Given the description of an element on the screen output the (x, y) to click on. 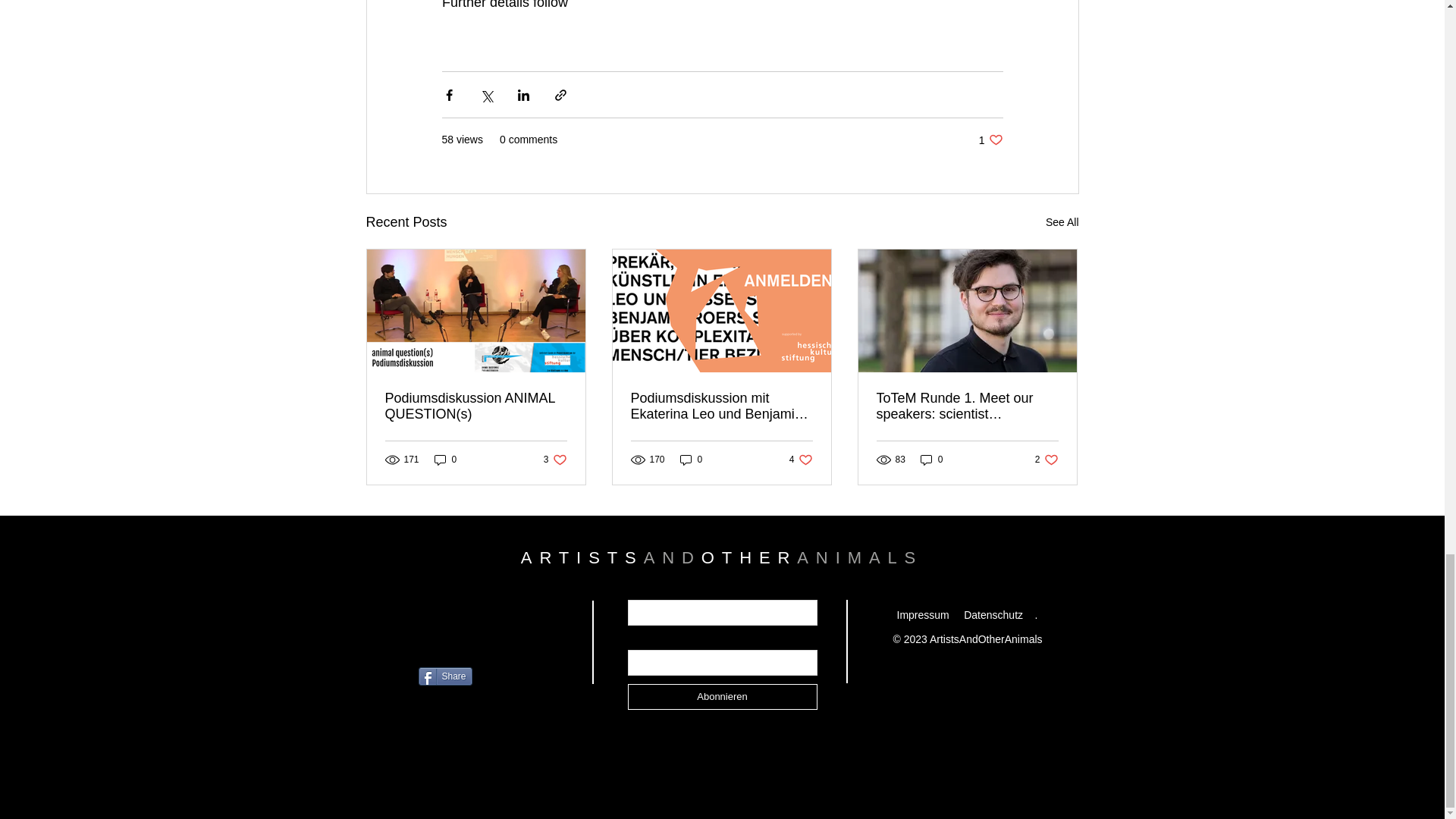
See All (1061, 222)
OTHER (555, 459)
AND (749, 557)
0 (672, 557)
Facebook Like (931, 459)
Podiumsdiskussion mit Ekaterina Leo und Benjamin Roers (1046, 459)
ToTeM Runde 1. Meet our speakers: scientist BENJAMIN ROERS (448, 640)
ARTISTS (721, 406)
